Given the description of an element on the screen output the (x, y) to click on. 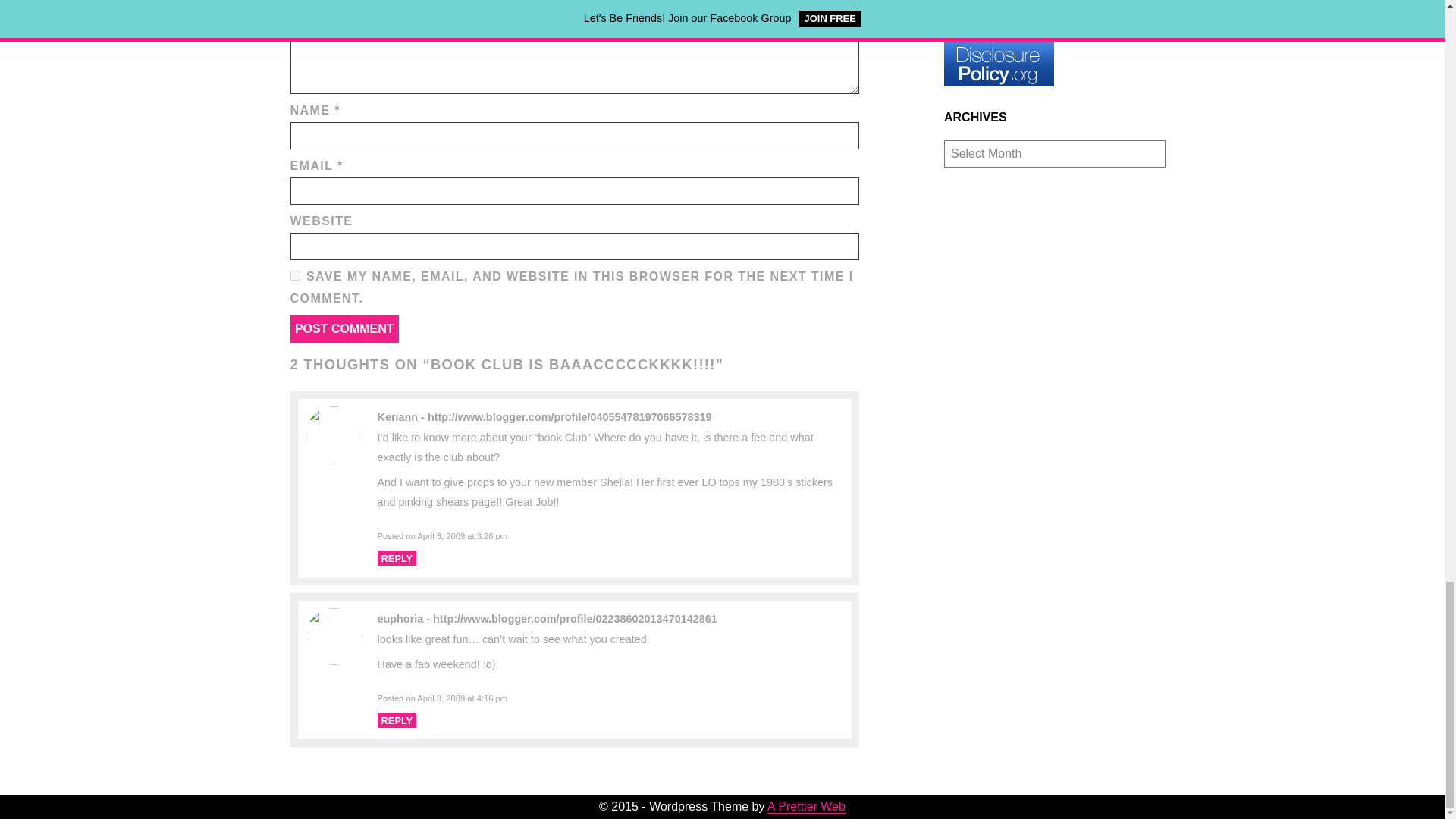
Post Comment (343, 329)
yes (294, 275)
REPLY (396, 720)
Post Comment (343, 329)
REPLY (396, 557)
